Given the description of an element on the screen output the (x, y) to click on. 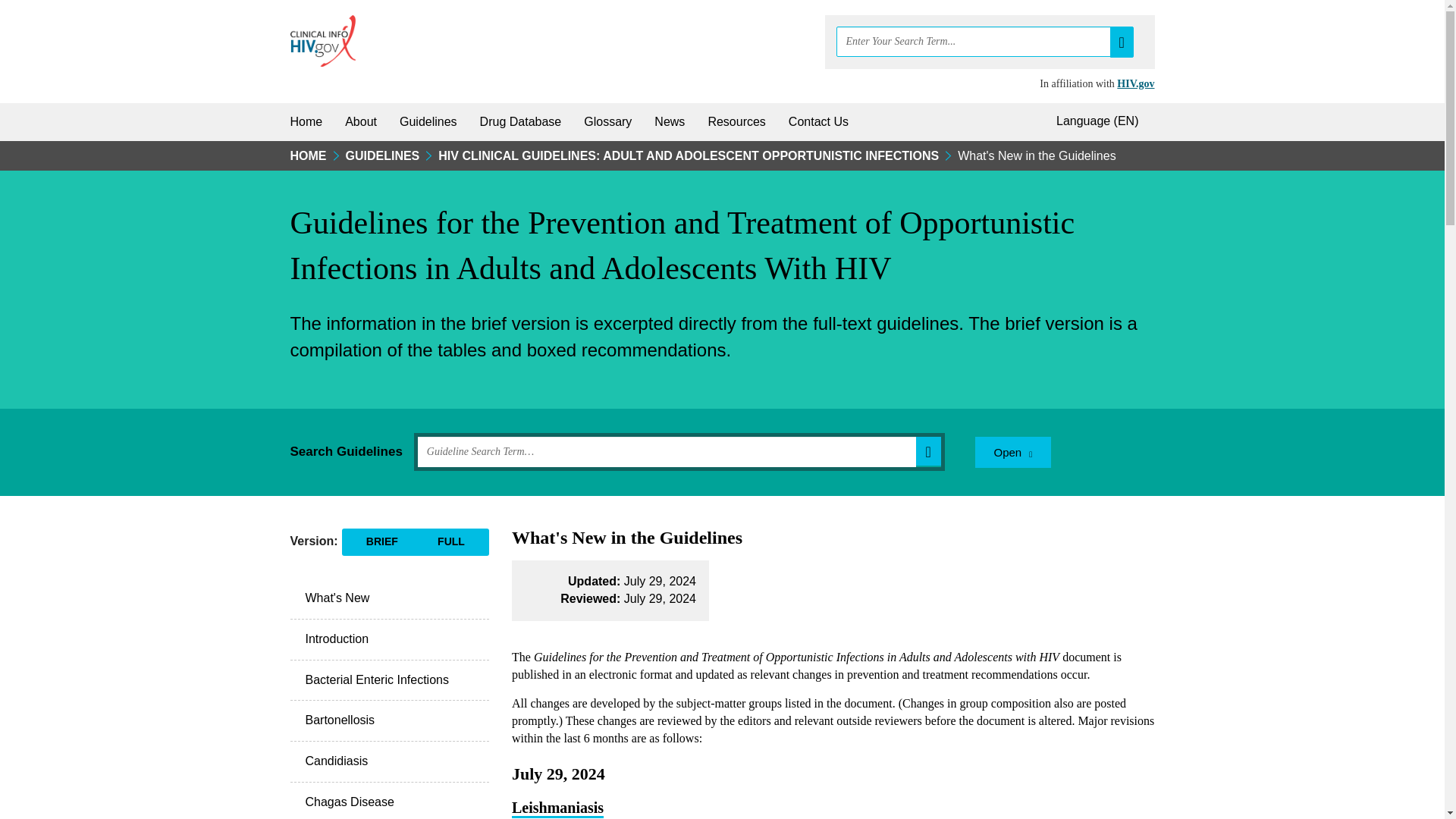
Introduction (389, 639)
HIV.gov (1135, 83)
Candidiasis (389, 762)
Glossary (607, 121)
About (360, 121)
Bacterial Enteric Infections (389, 680)
Candidiasis (389, 762)
GUIDELINES (383, 157)
Introduction (389, 639)
Chagas Disease (389, 800)
English (1100, 121)
Home (306, 121)
FULL (450, 542)
Guidelines (428, 121)
